Given the description of an element on the screen output the (x, y) to click on. 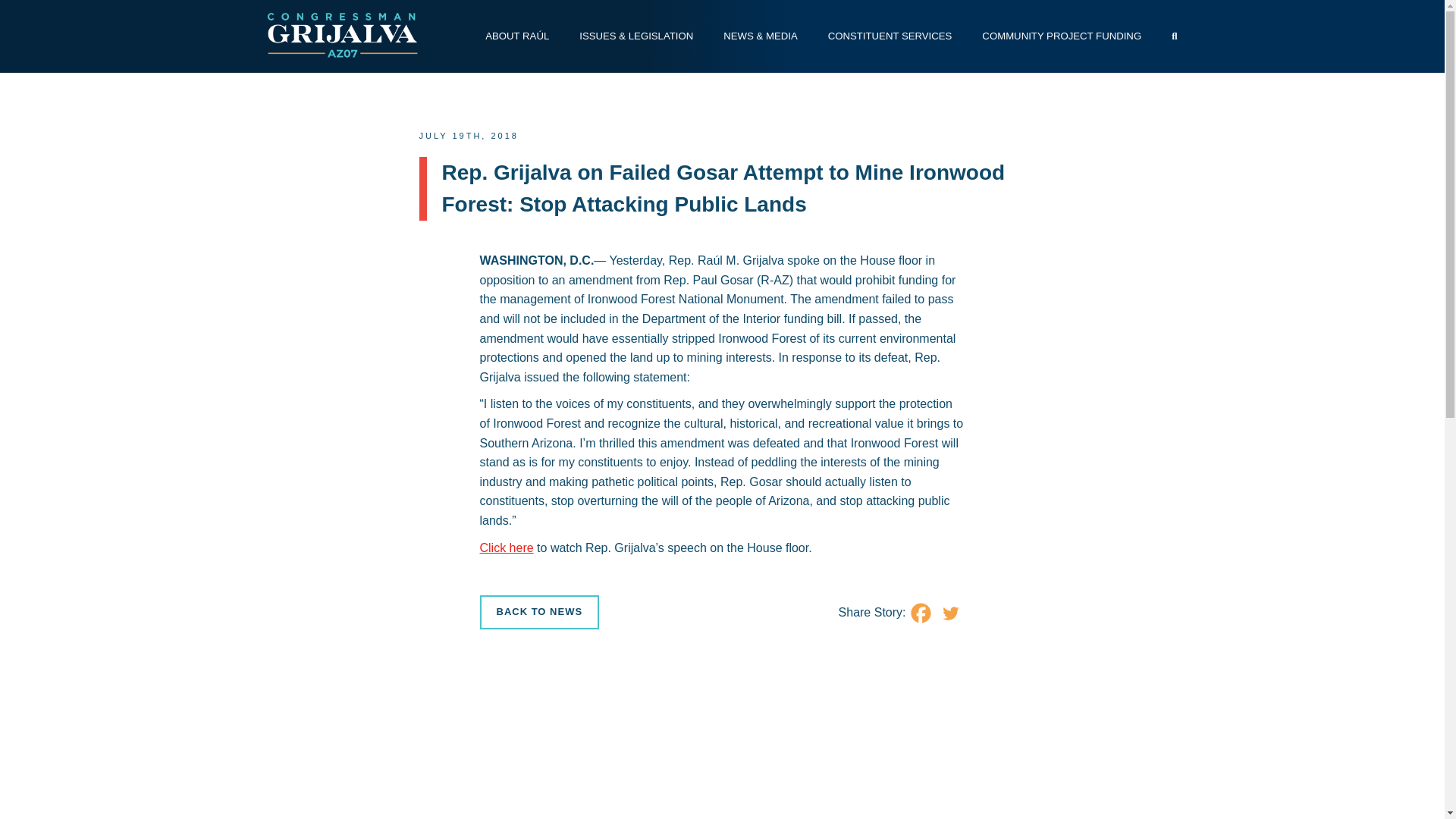
CONSTITUENT SERVICES (890, 35)
Twitter (950, 612)
Facebook (920, 612)
